Given the description of an element on the screen output the (x, y) to click on. 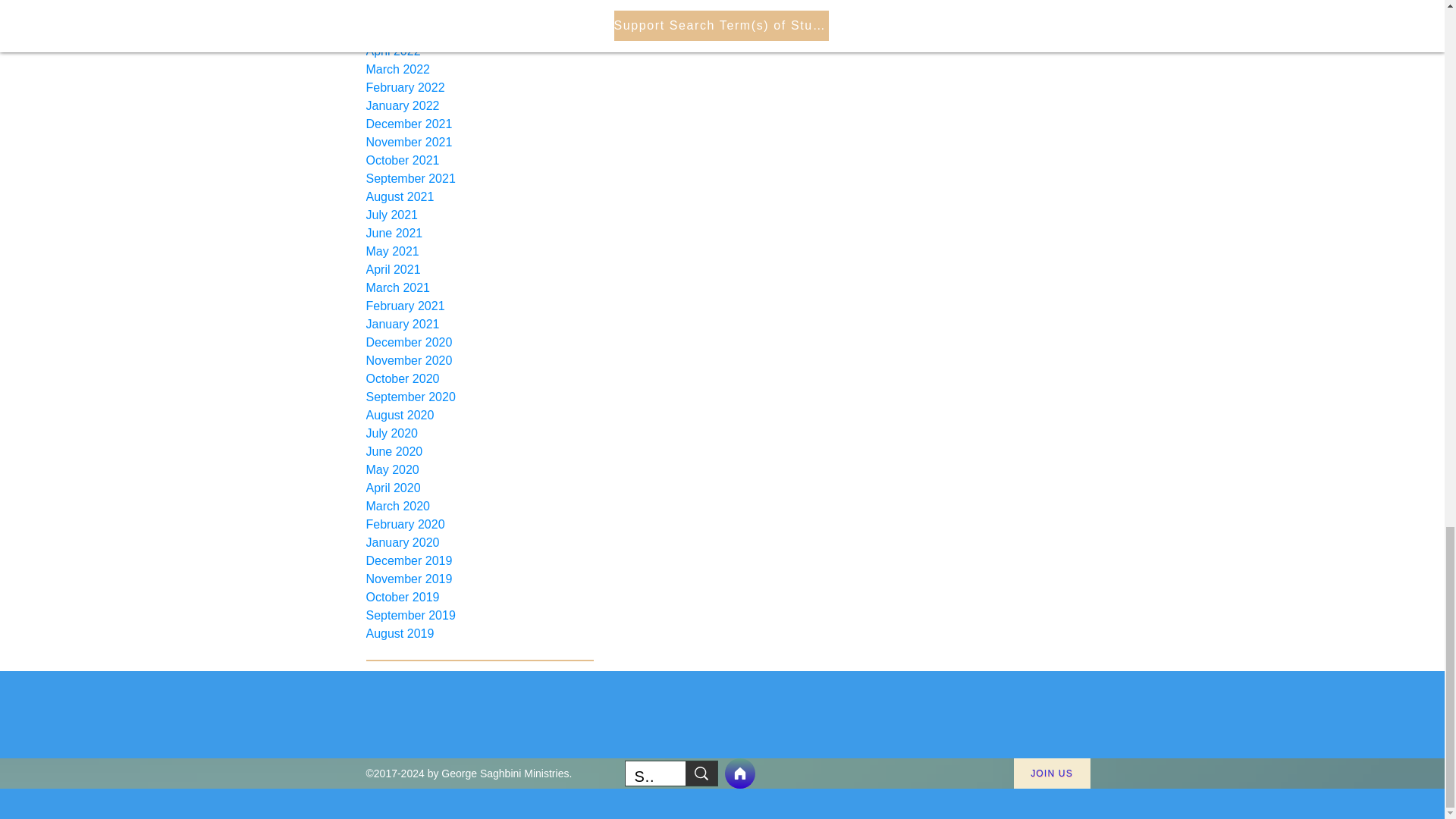
November 2020 (478, 361)
August 2021 (478, 197)
January 2022 (478, 106)
June 2021 (478, 233)
March 2022 (478, 69)
September 2021 (478, 178)
March 2021 (478, 288)
December 2021 (478, 124)
November 2021 (478, 142)
October 2020 (478, 379)
